Given the description of an element on the screen output the (x, y) to click on. 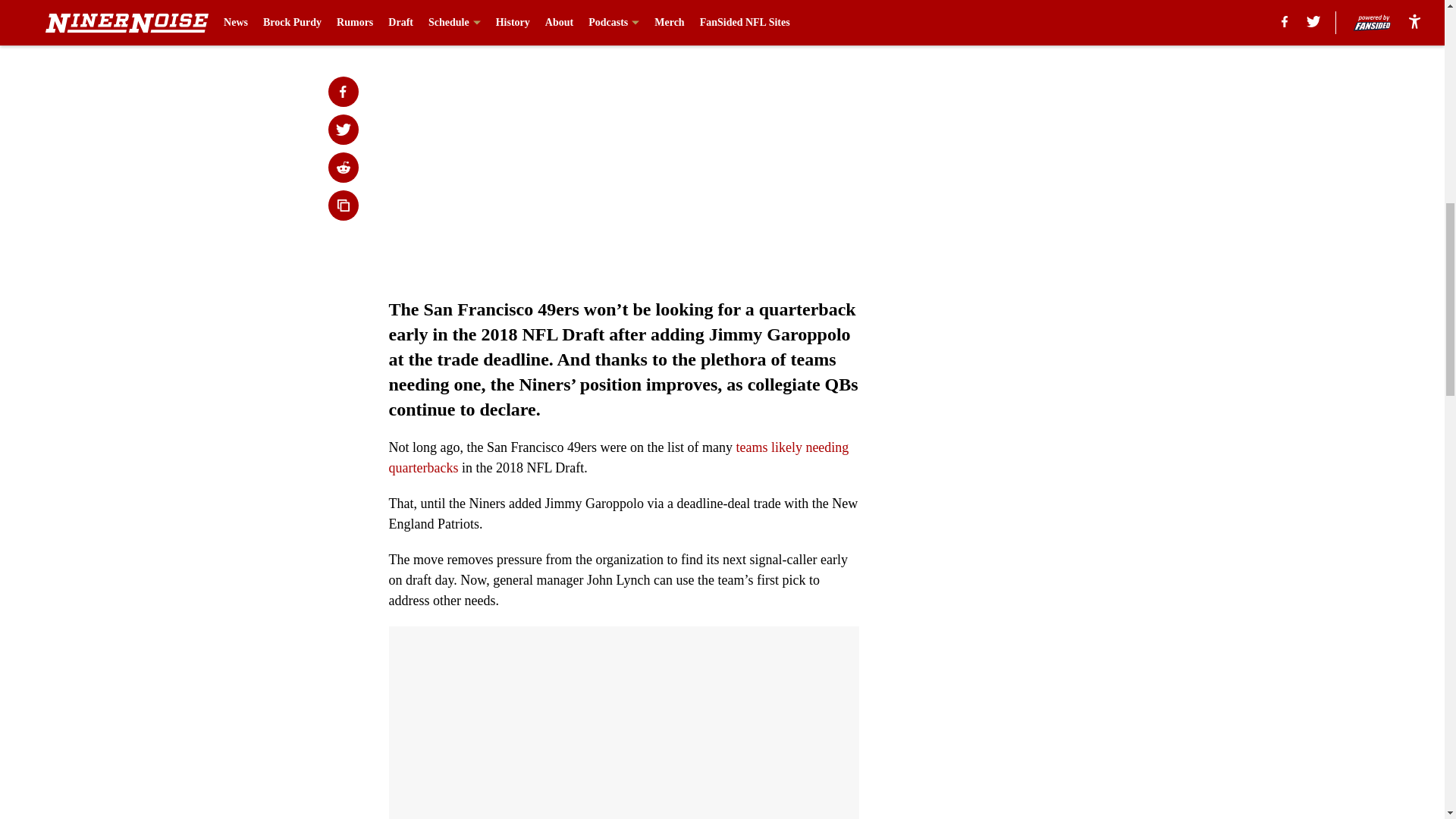
teams likely needing quarterbacks (618, 457)
